Given the description of an element on the screen output the (x, y) to click on. 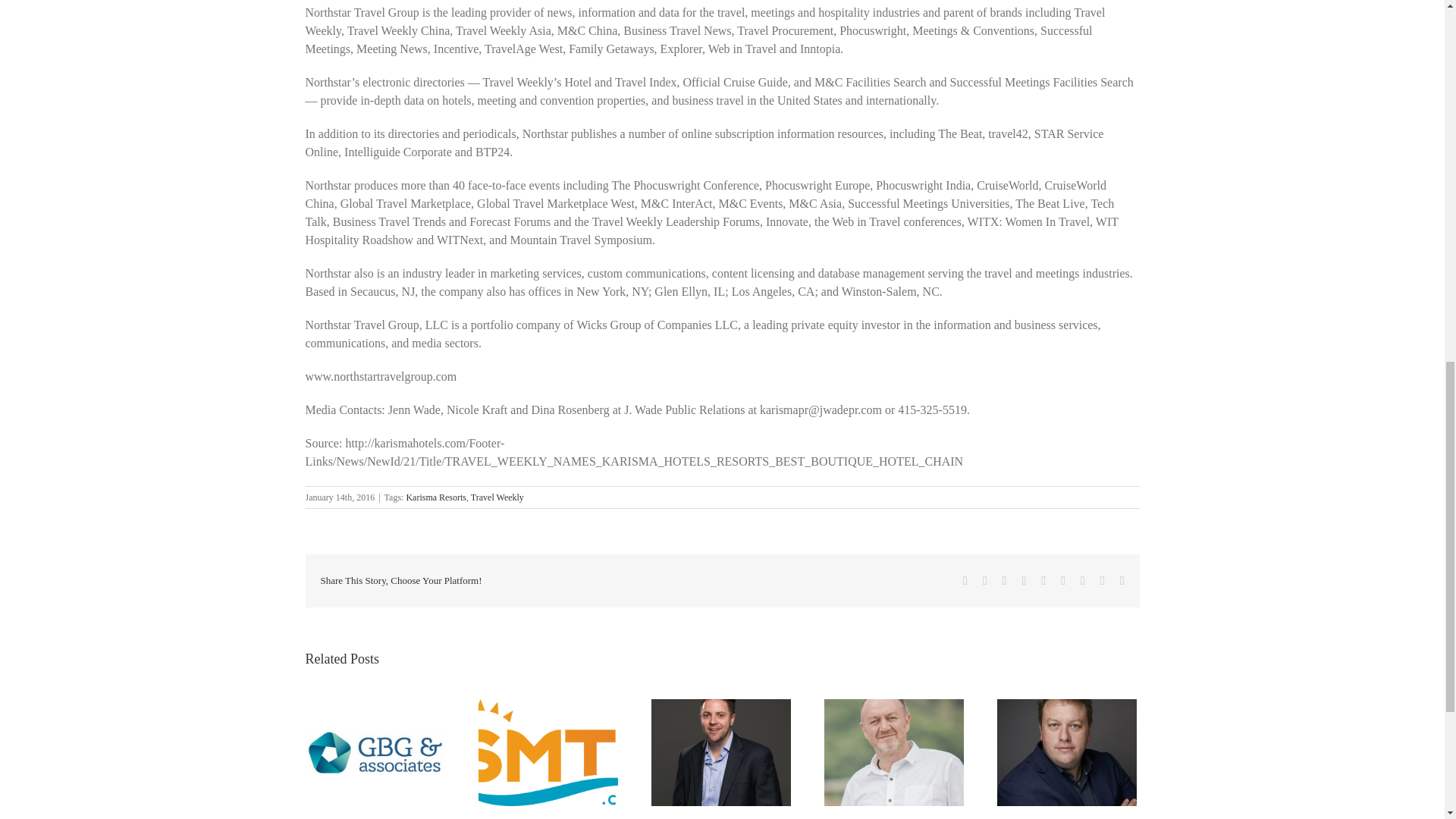
Karisma Resorts (435, 497)
Travel Weekly (497, 497)
